Given the description of an element on the screen output the (x, y) to click on. 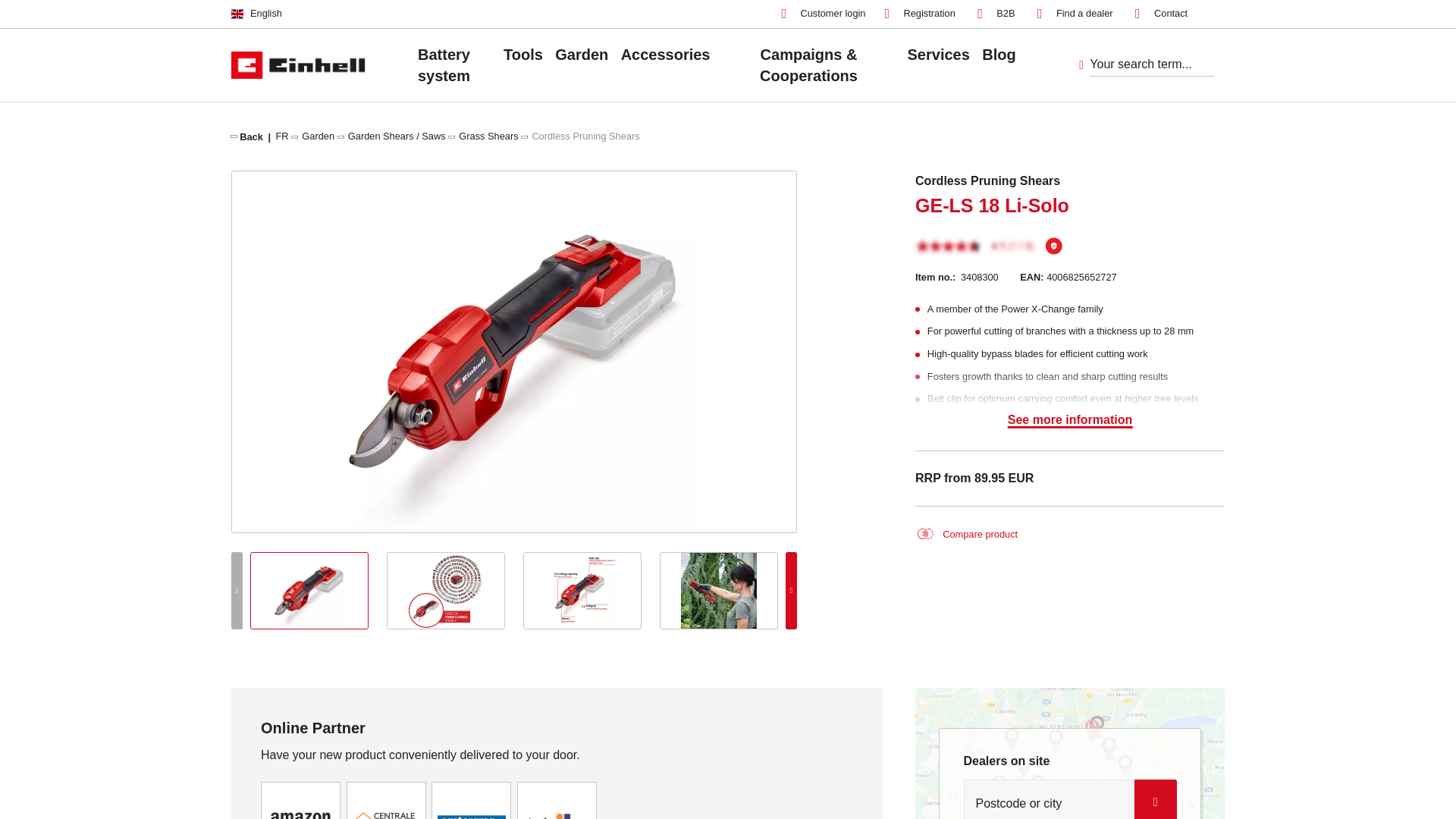
Grass Shears (488, 135)
Customer login (822, 13)
Battery system (443, 64)
Contact (1161, 13)
Bricozor (556, 816)
Garden (317, 135)
Registration (919, 13)
Castorama (471, 816)
Find a dealer (1074, 13)
Amazon (300, 816)
B2B (995, 13)
FR (282, 135)
Centrale Brico (386, 816)
